Given the description of an element on the screen output the (x, y) to click on. 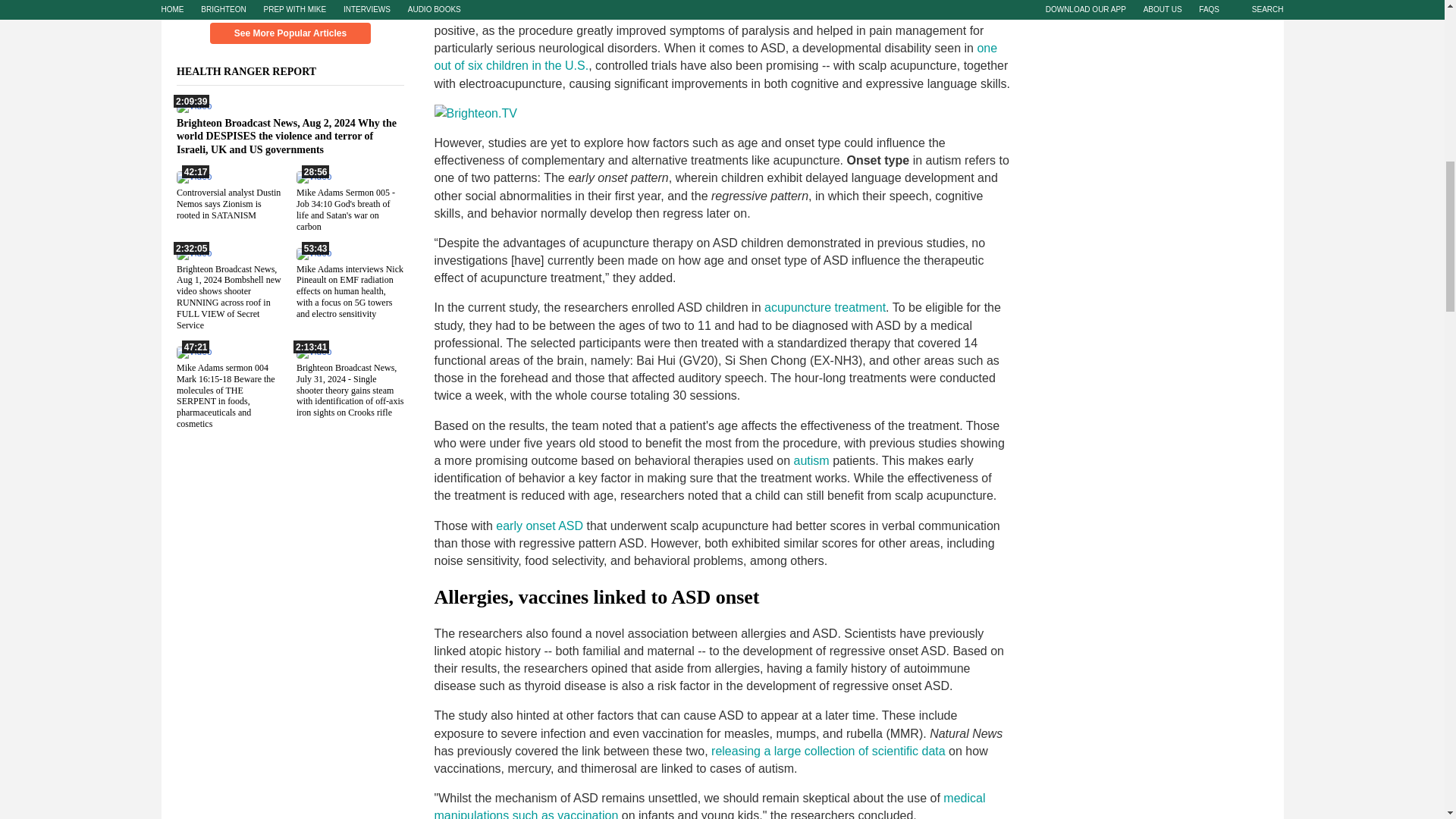
2:13:41 (312, 350)
28:56 (312, 176)
HEALTH RANGER REPORT (254, 71)
47:21 (193, 350)
53:43 (312, 252)
42:17 (193, 176)
2:09:39 (193, 105)
2:32:05 (193, 252)
